Given the description of an element on the screen output the (x, y) to click on. 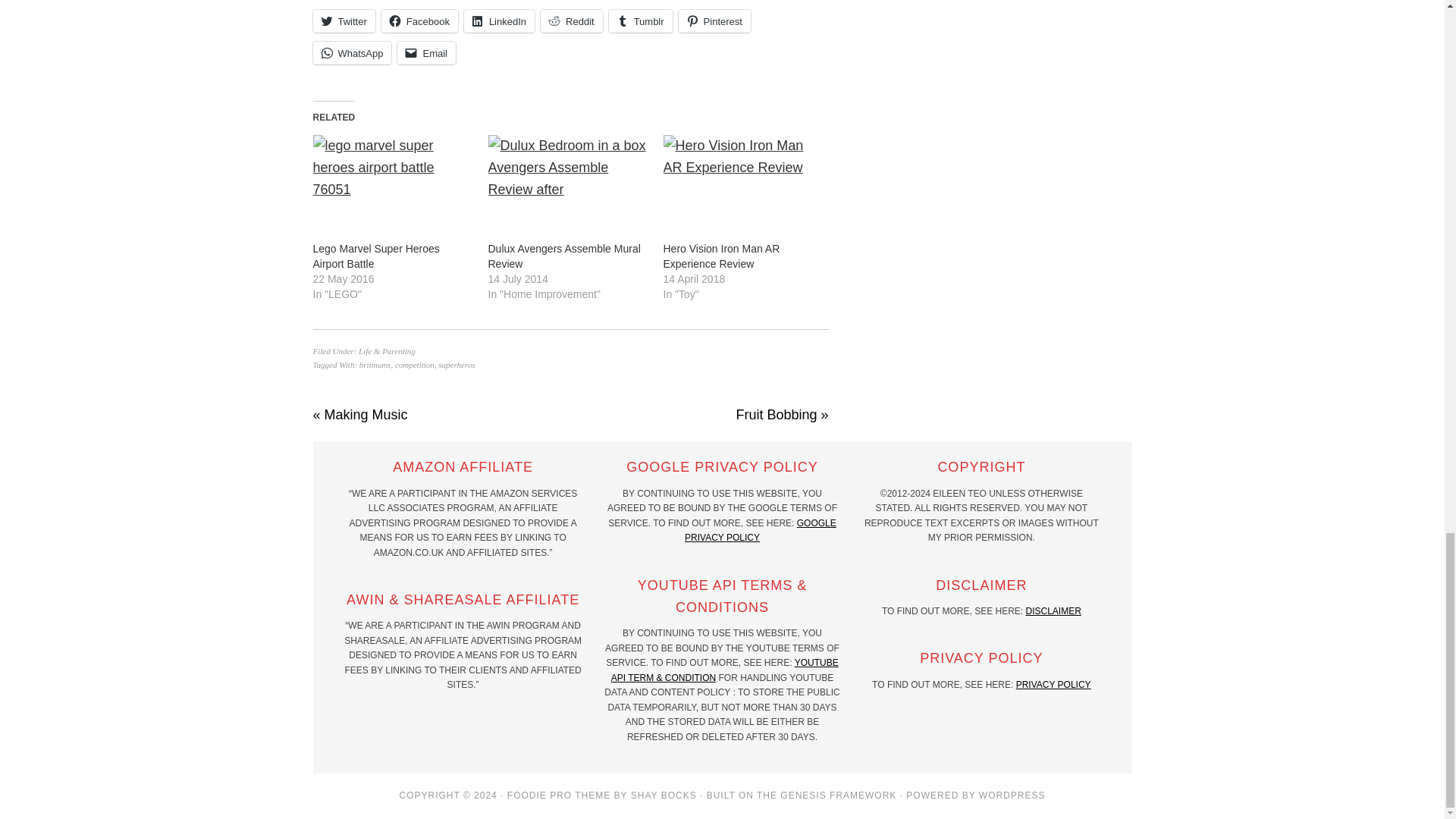
Dulux Avengers Assemble Mural Review (567, 180)
Dulux Avengers Assemble Mural Review (563, 256)
Lego Marvel Super Heroes Airport Battle (392, 180)
Click to share on Twitter (343, 20)
Click to share on WhatsApp (352, 52)
Lego Marvel Super Heroes Airport Battle (376, 256)
Click to share on Facebook (419, 20)
Click to share on Pinterest (714, 20)
Click to share on LinkedIn (499, 20)
Hero Vision Iron Man AR Experience Review (742, 180)
Click to share on Tumblr (640, 20)
Click to share on Reddit (571, 20)
Click to email a link to a friend (426, 52)
